Given the description of an element on the screen output the (x, y) to click on. 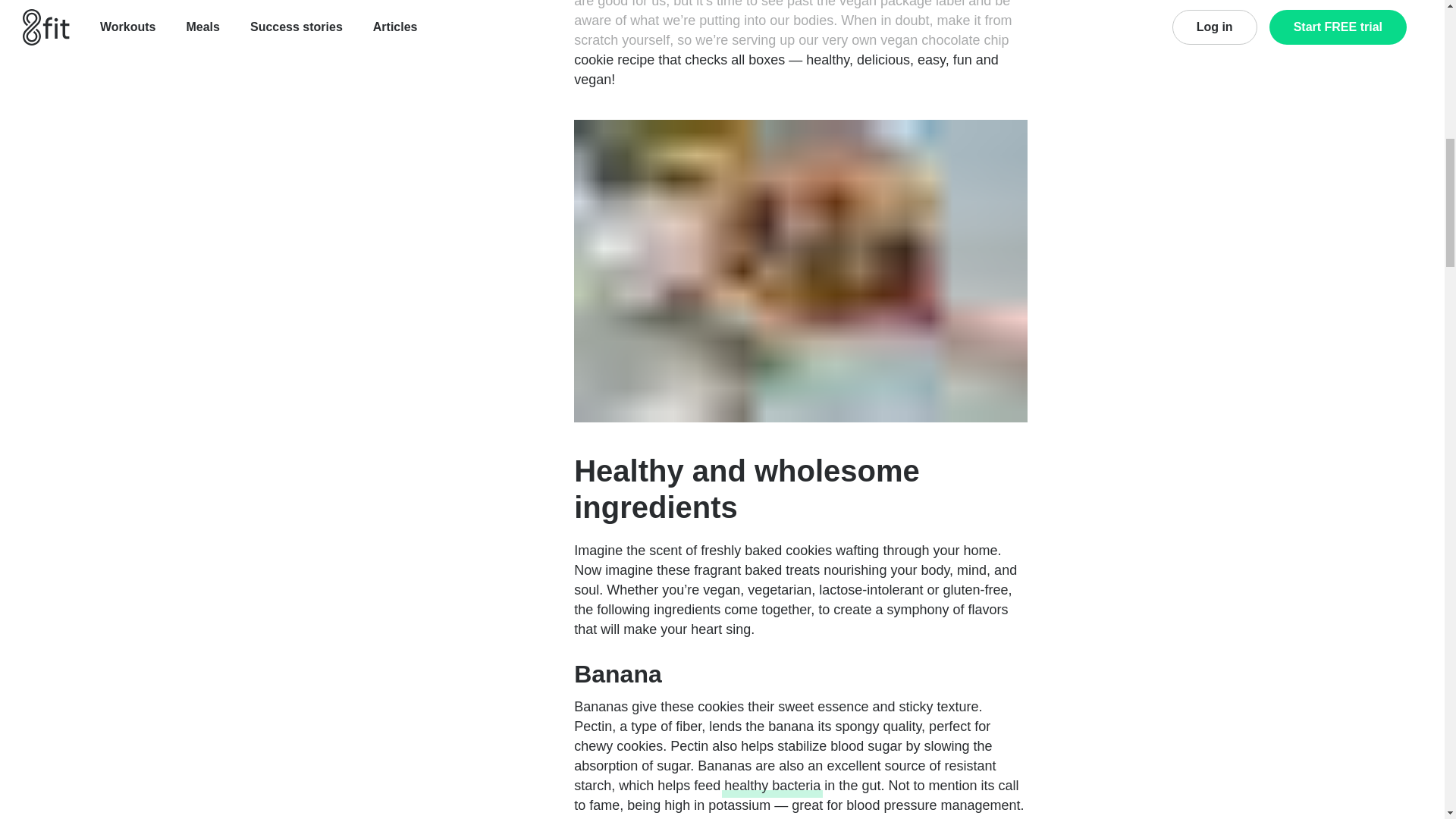
healthy bacteria (772, 785)
